Given the description of an element on the screen output the (x, y) to click on. 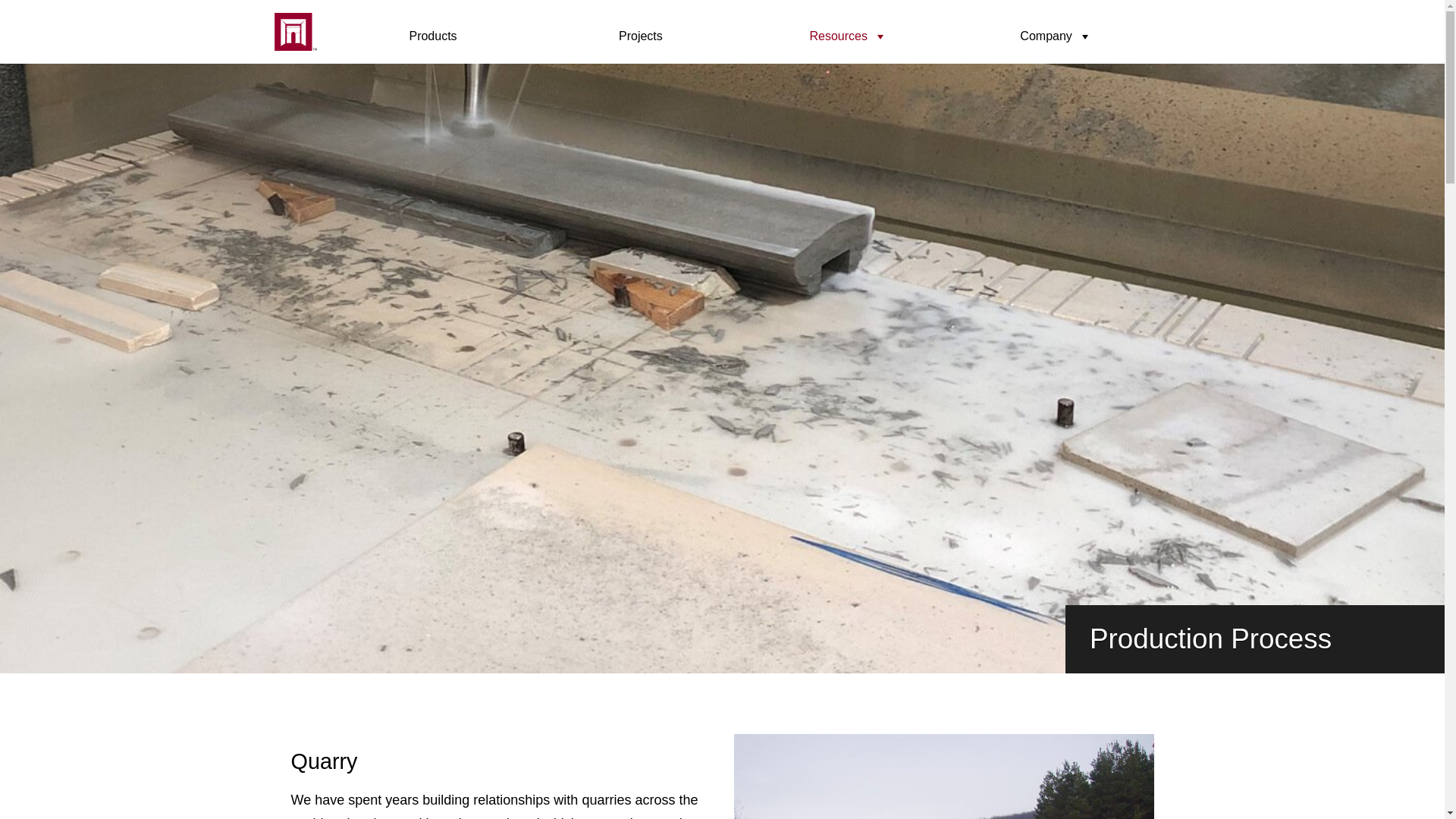
Products (432, 36)
Resources (847, 36)
Company (1055, 36)
Projects (640, 36)
